Given the description of an element on the screen output the (x, y) to click on. 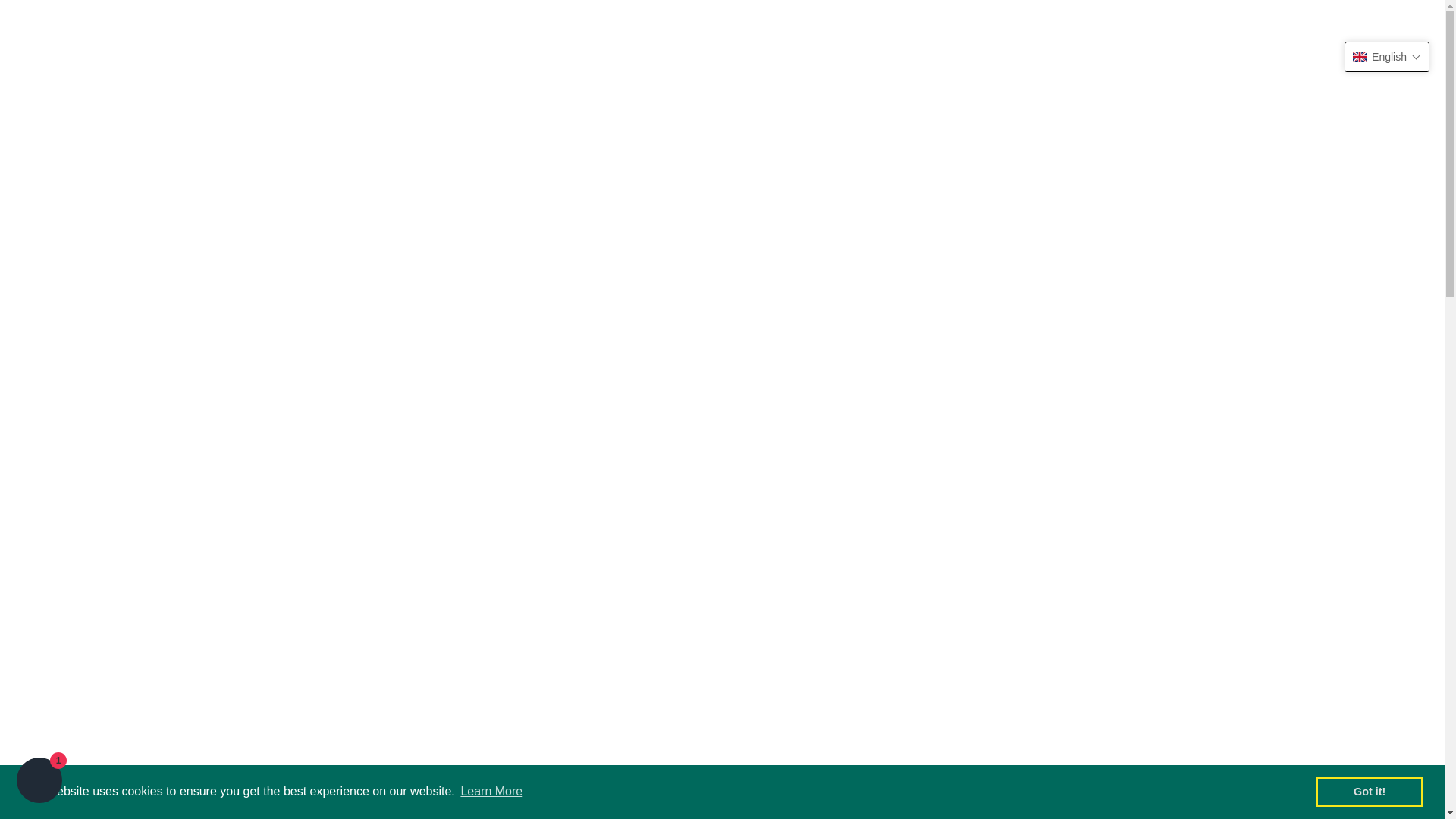
Go back to Home page (54, 110)
Home (54, 110)
Got it! (1369, 791)
0 (1398, 22)
Shopify online store chat (38, 781)
Home (1225, 22)
Learn More (491, 791)
Products (1288, 22)
